Given the description of an element on the screen output the (x, y) to click on. 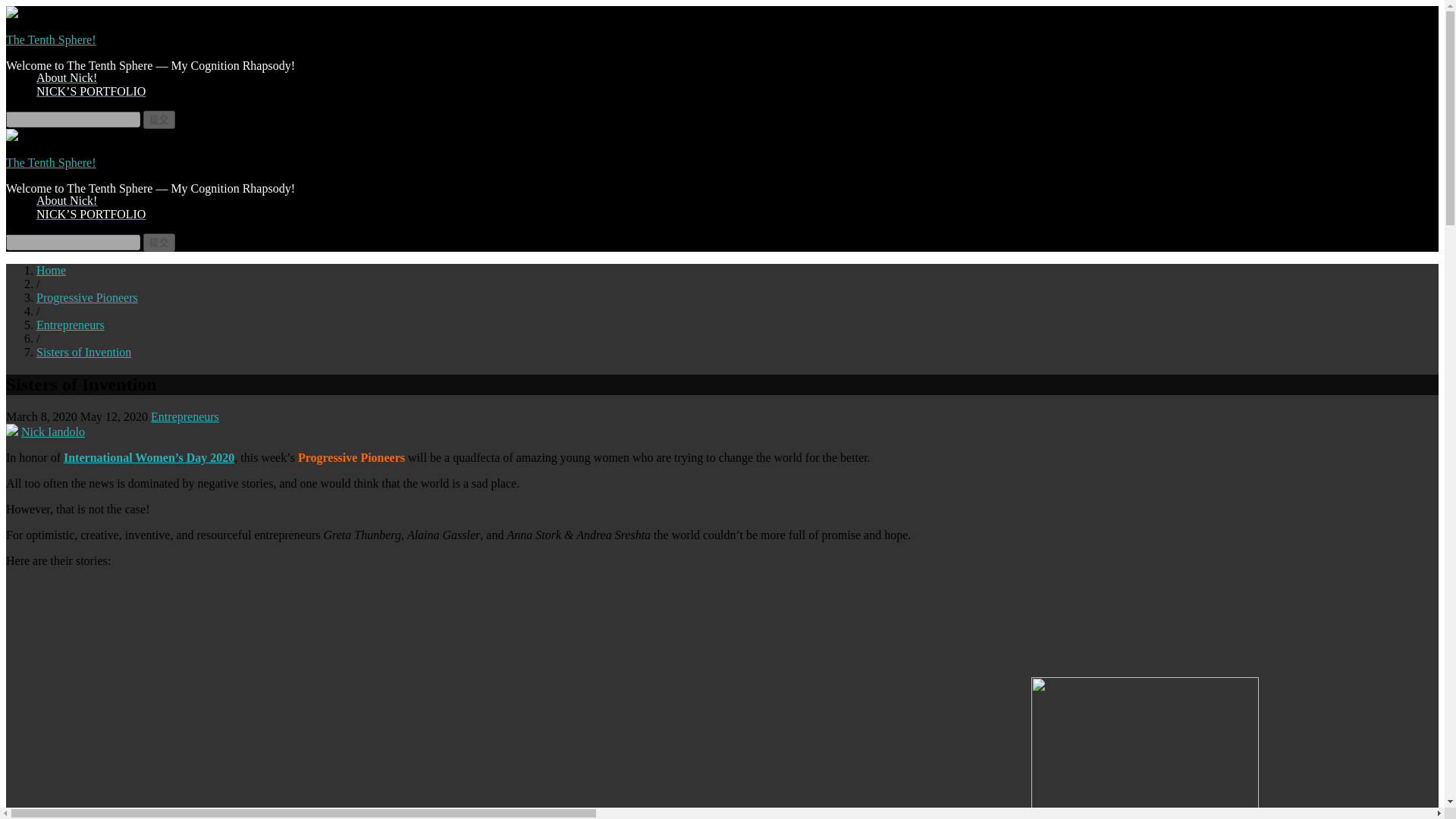
Home (50, 269)
Nick Iandolo (52, 431)
The Tenth Sphere! (50, 39)
Entrepreneurs (185, 416)
Home (50, 269)
Sisters of Invention (83, 351)
Progressive Pioneers (87, 297)
Entrepreneurs (70, 324)
About Nick! (66, 200)
Progressive Pioneers (87, 297)
The Tenth Sphere! (50, 162)
Entrepreneurs (70, 324)
Sisters of Invention (83, 351)
About Nick! (66, 77)
